Given the description of an element on the screen output the (x, y) to click on. 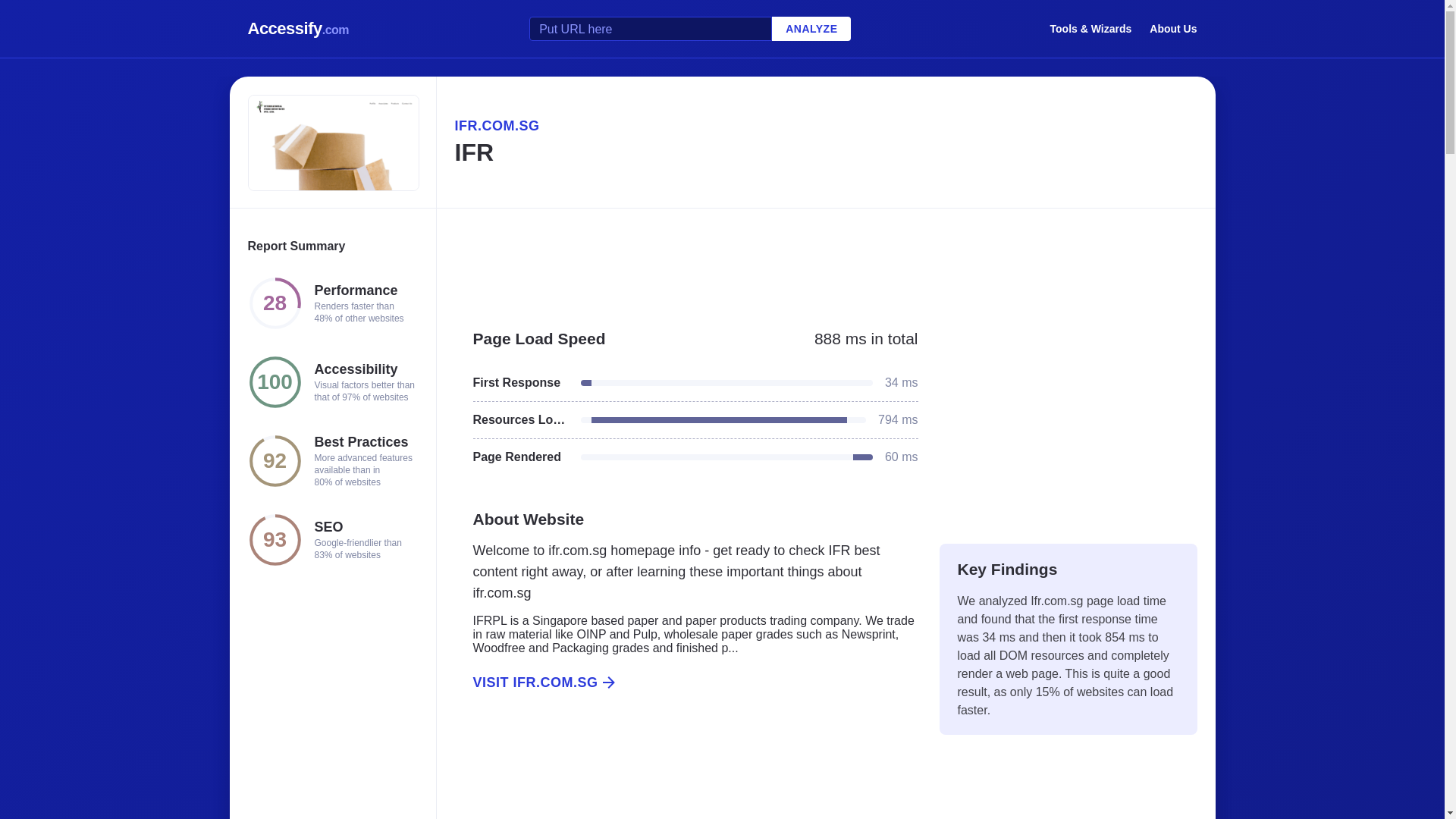
Advertisement (686, 771)
IFR.COM.SG (825, 126)
About Us (1173, 28)
ANALYZE (810, 28)
Accessify.com (298, 28)
VISIT IFR.COM.SG (686, 682)
Advertisement (825, 260)
Advertisement (1067, 418)
